Given the description of an element on the screen output the (x, y) to click on. 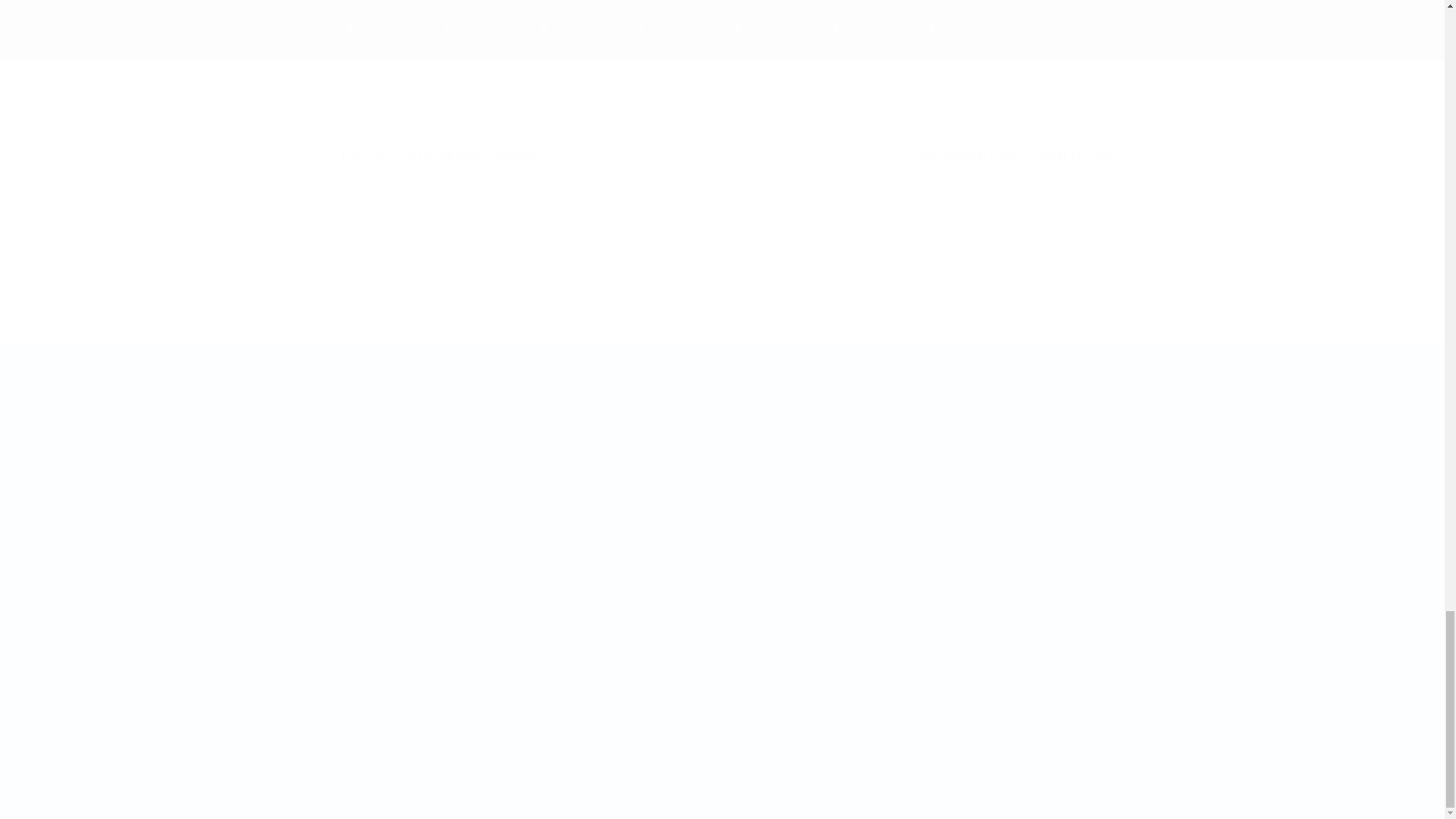
UEFA.com (227, 409)
Matches (769, 409)
Teams (487, 387)
About (483, 419)
Groups (481, 450)
Deutsch (484, 404)
Italiano (1032, 440)
Cookie policy (1029, 486)
UEFA.com (777, 558)
